Given the description of an element on the screen output the (x, y) to click on. 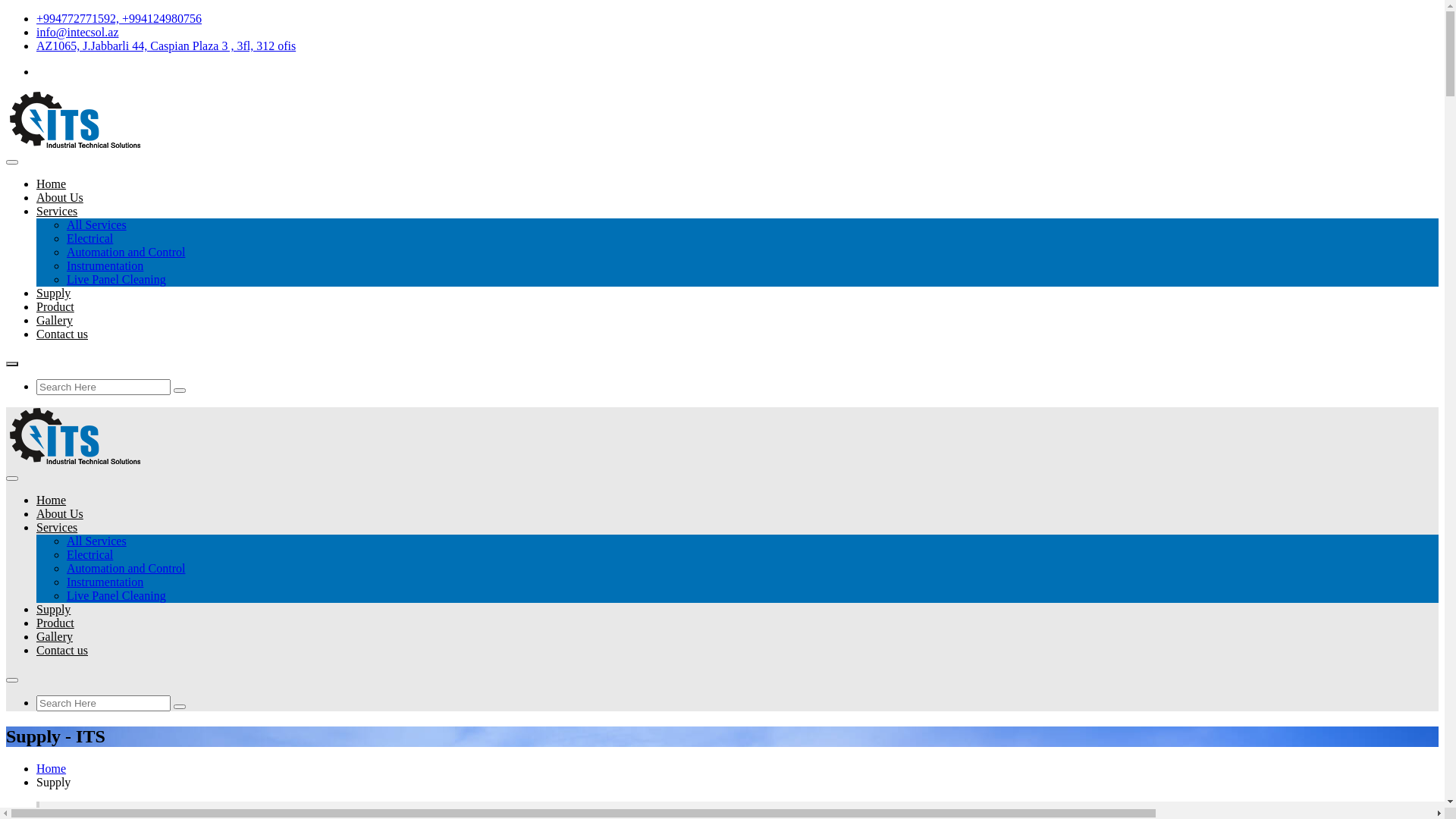
Product Element type: text (55, 306)
Automation and Control Element type: text (125, 567)
info@intecsol.az Element type: text (77, 31)
+994772771592, +994124980756 Element type: text (118, 18)
Home Element type: text (50, 183)
Supply Element type: text (53, 292)
Home Element type: text (50, 499)
Home Element type: text (50, 768)
Supply Element type: text (53, 608)
Nortech Element type: hover (81, 435)
All Services Element type: text (96, 224)
About Us Element type: text (59, 197)
Instrumentation Element type: text (104, 581)
Services Element type: text (56, 210)
Contact us Element type: text (61, 333)
Contact us Element type: text (61, 649)
All Services Element type: text (96, 540)
Electrical Element type: text (89, 554)
Gallery Element type: text (54, 636)
Live Panel Cleaning Element type: text (116, 595)
AZ1065, J.Jabbarli 44, Caspian Plaza 3 , 3fl, 312 ofis Element type: text (165, 45)
About Us Element type: text (59, 513)
Product Element type: text (55, 622)
Services Element type: text (56, 526)
Electrical Element type: text (89, 238)
Nortech Element type: hover (81, 119)
Gallery Element type: text (54, 319)
Instrumentation Element type: text (104, 265)
Live Panel Cleaning Element type: text (116, 279)
Automation and Control Element type: text (125, 251)
